Given the description of an element on the screen output the (x, y) to click on. 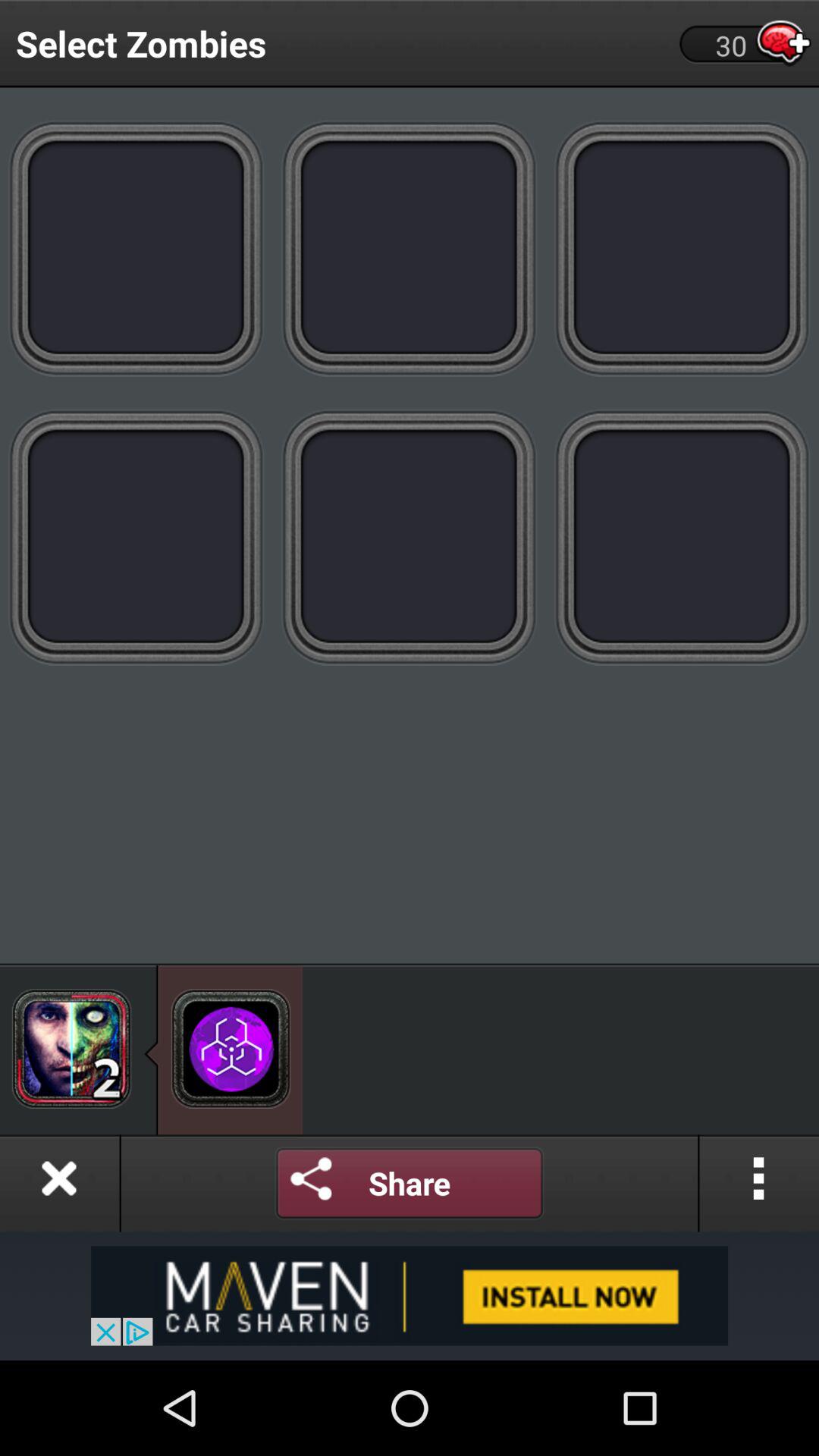
open settings (311, 1183)
